Given the description of an element on the screen output the (x, y) to click on. 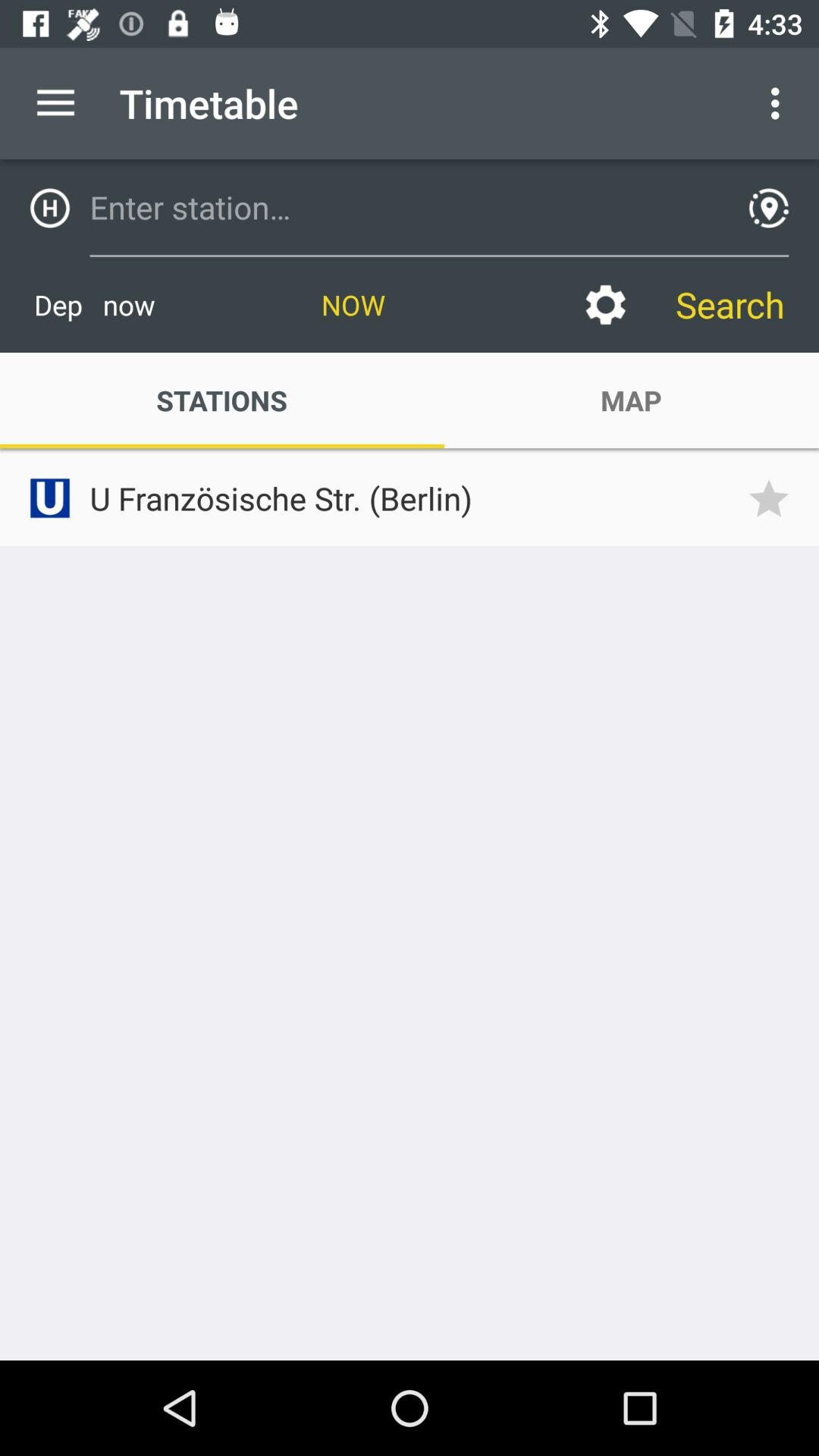
turn on app next to the timetable app (55, 103)
